Given the description of an element on the screen output the (x, y) to click on. 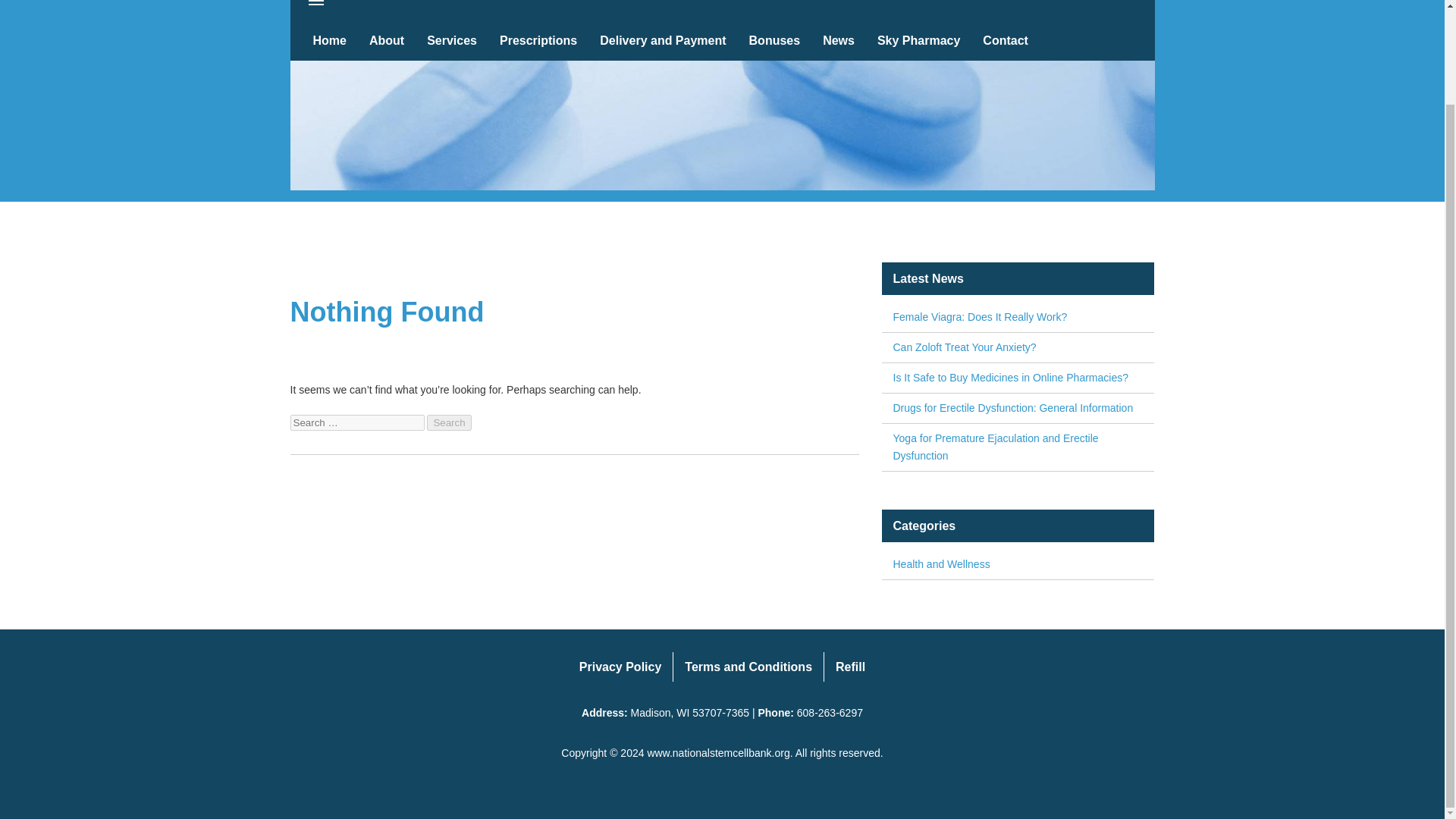
Female Viagra: Does It Really Work? (1017, 317)
Drugs for Erectile Dysfunction: General Information (1017, 408)
Home (329, 40)
Terms and Conditions (748, 665)
Privacy Policy (619, 665)
Search (448, 422)
Prescriptions (537, 40)
News (838, 40)
Sky Pharmacy (918, 40)
Health and Wellness (1017, 564)
